Given the description of an element on the screen output the (x, y) to click on. 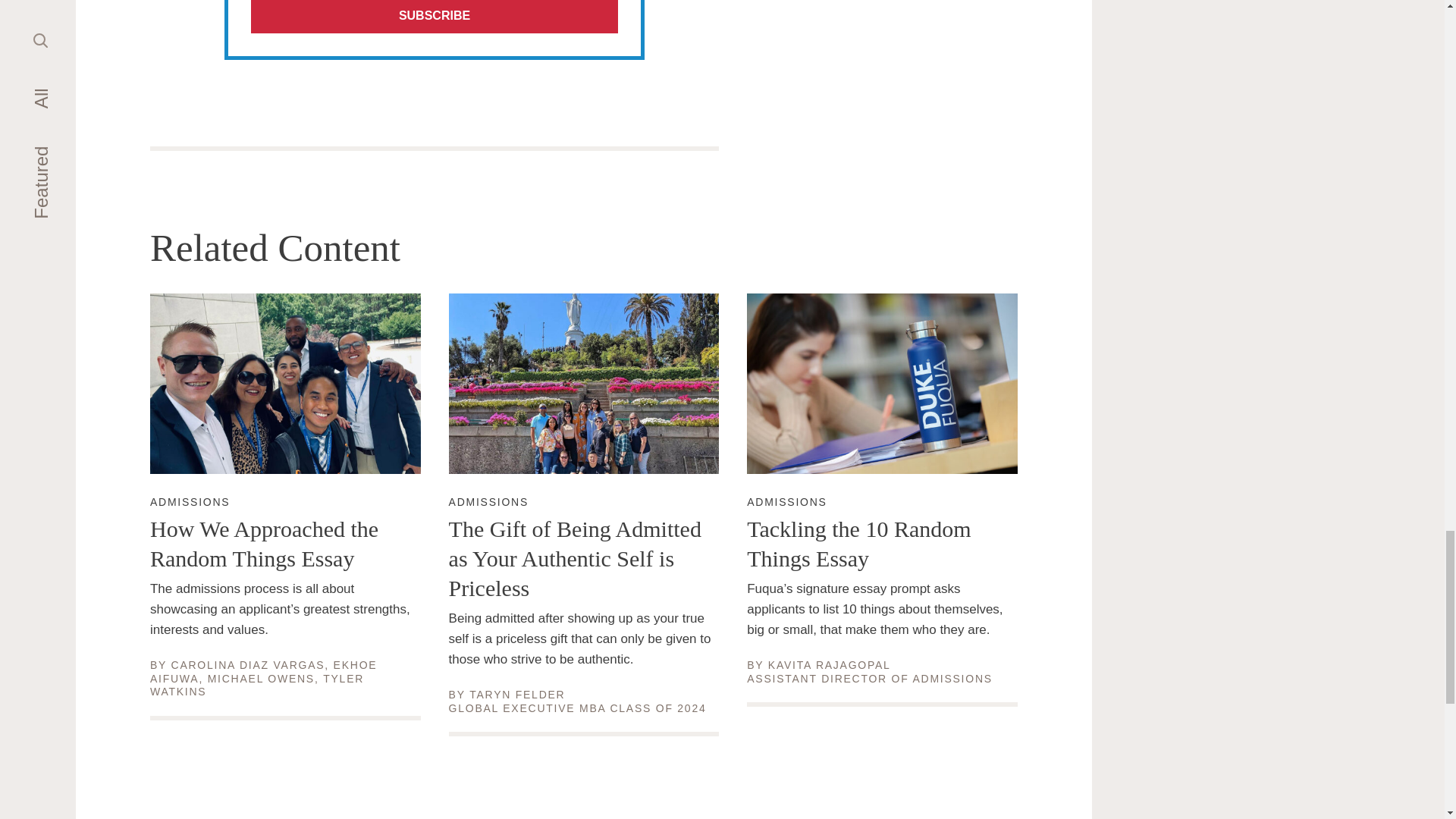
Tackling the 10 Random Things Essay (256, 685)
How We Approached the Random Things Essay (881, 543)
